Given the description of an element on the screen output the (x, y) to click on. 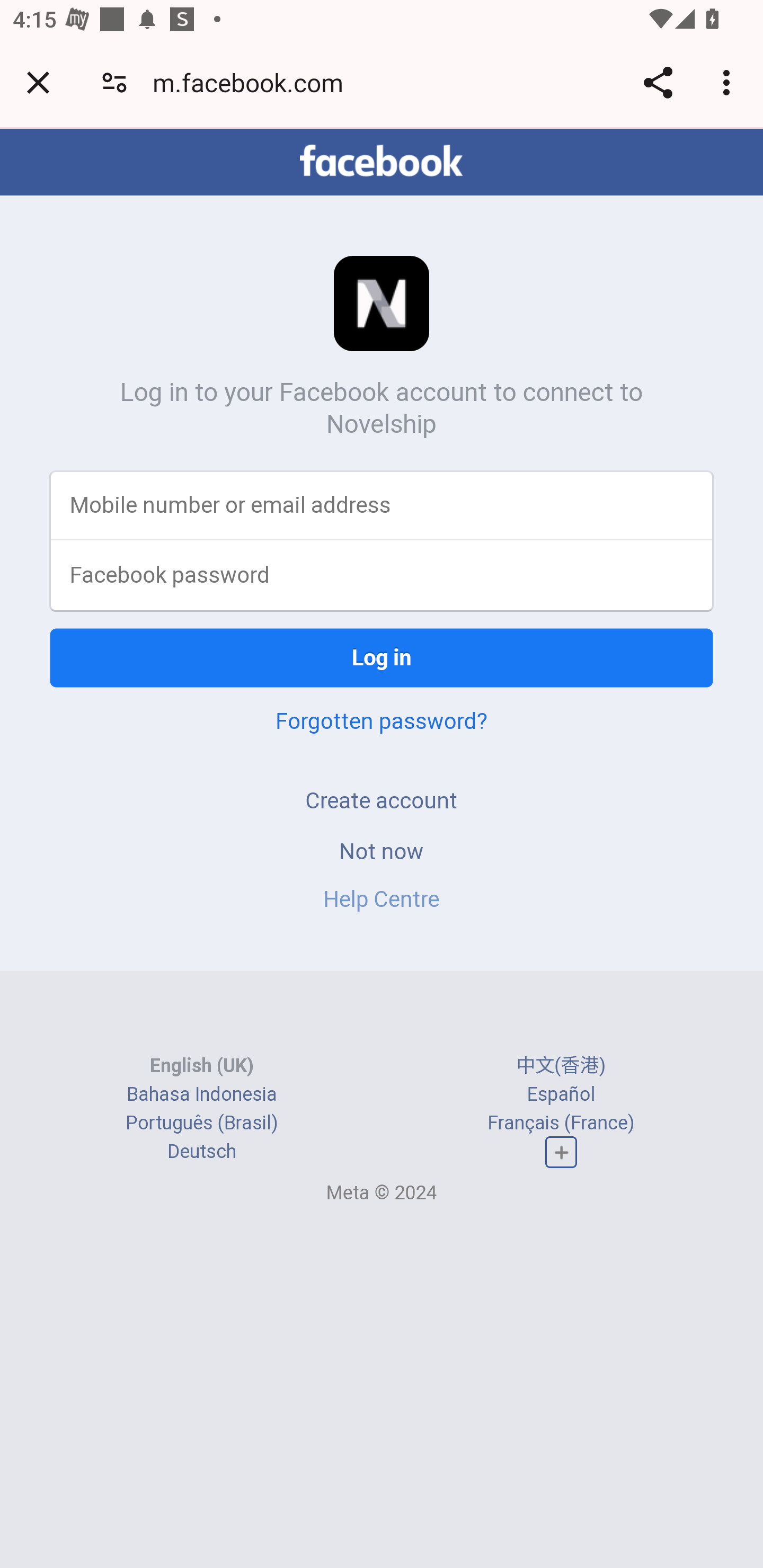
Close tab (38, 82)
Share (657, 82)
Customize and control Google Chrome (729, 82)
Connection is secure (114, 81)
m.facebook.com (254, 81)
facebook (381, 160)
Log in (381, 657)
Forgotten password? (381, 720)
Create account (381, 800)
Not now (381, 850)
Help Centre (381, 898)
中文(香港) (561, 1065)
Bahasa Indonesia (201, 1093)
Español (560, 1093)
Português (Brasil) (201, 1122)
Français (France) (560, 1122)
Complete list of languages (560, 1152)
Deutsch (201, 1151)
